Given the description of an element on the screen output the (x, y) to click on. 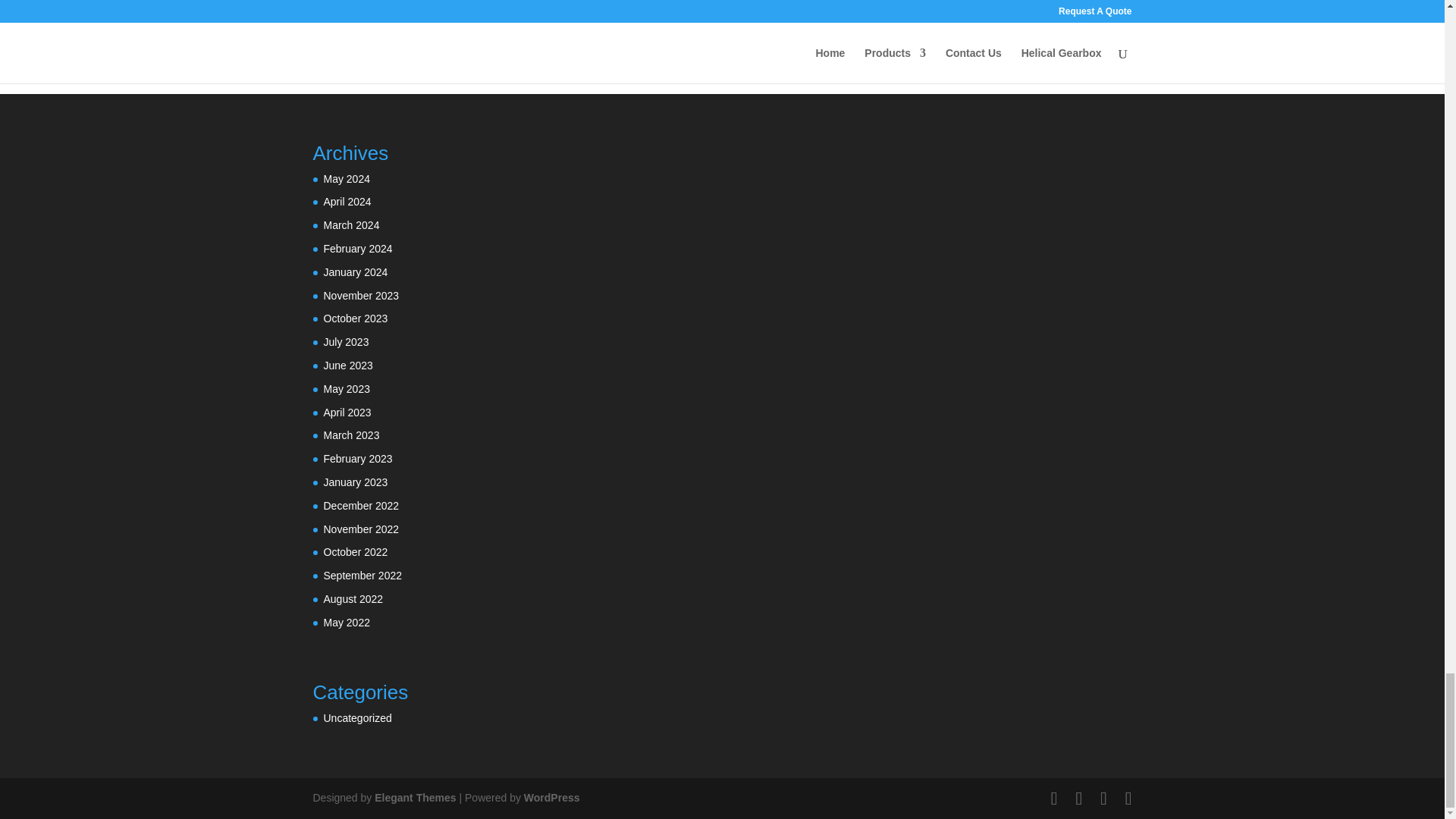
gearbox (585, 22)
china gearbox (456, 22)
Premium WordPress Themes (414, 797)
gearbox china (645, 22)
fast gearbox (526, 22)
beiben gearbox (377, 22)
